Given the description of an element on the screen output the (x, y) to click on. 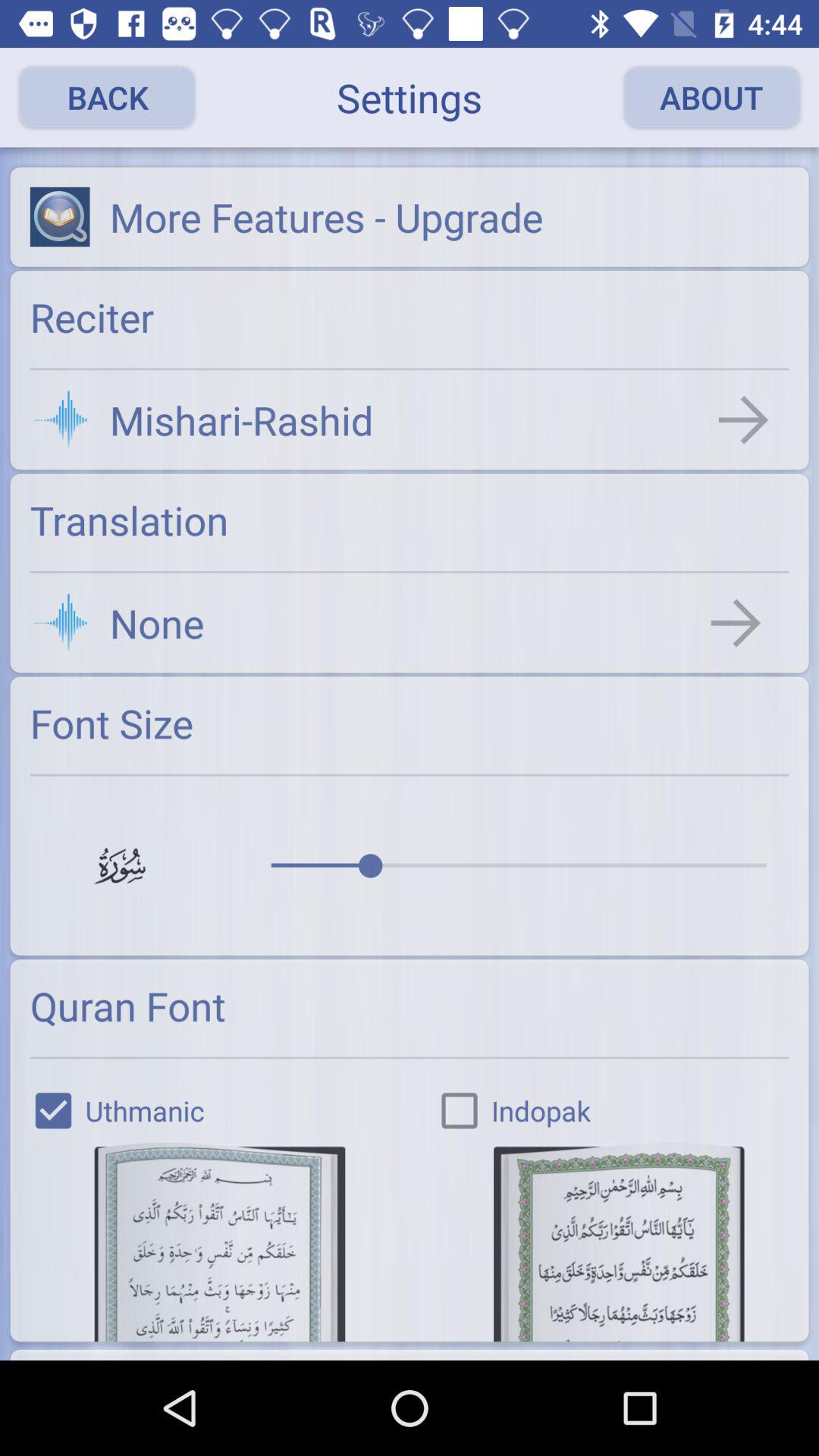
click to font style (219, 1241)
